Given the description of an element on the screen output the (x, y) to click on. 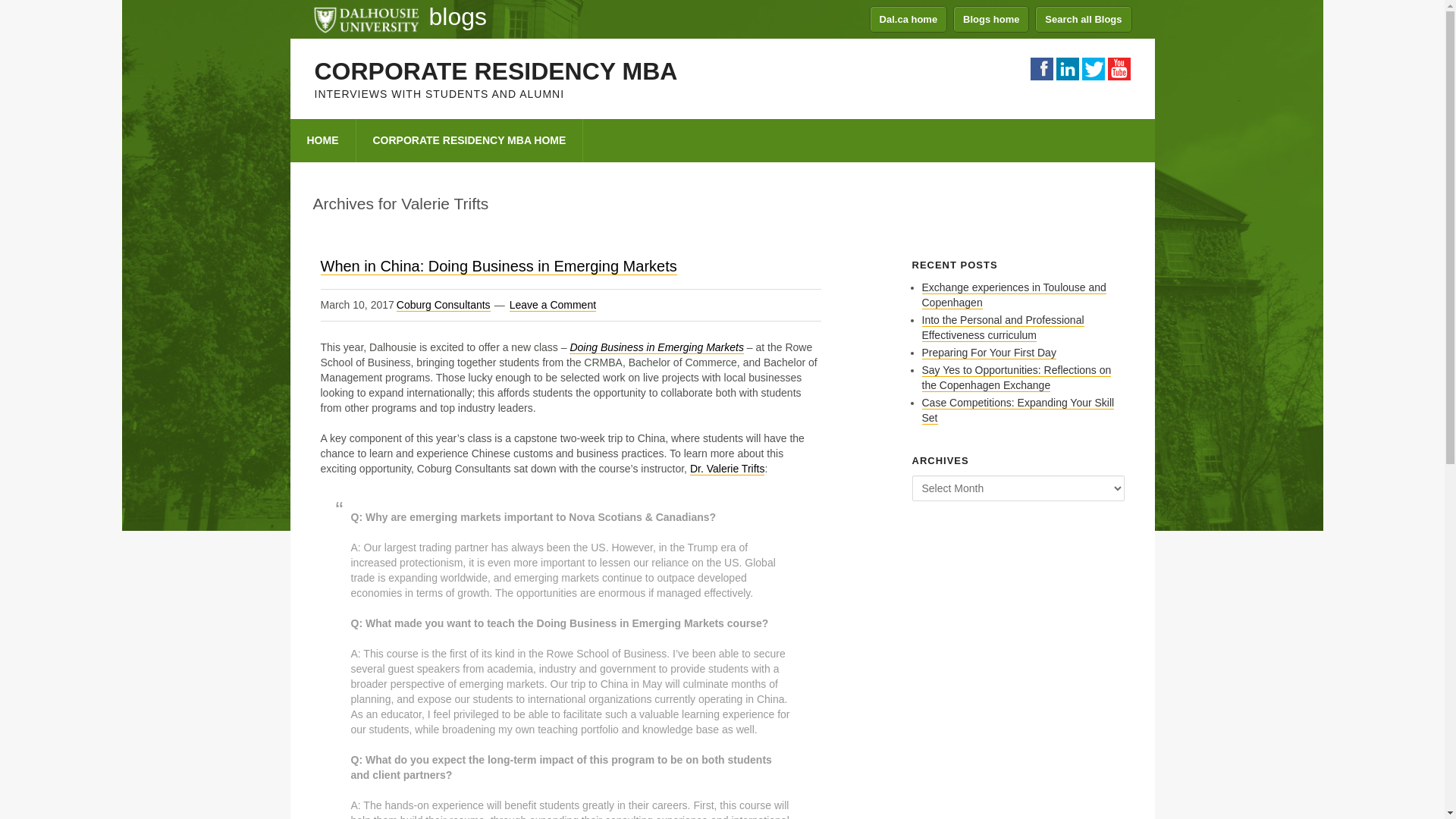
When in China: Doing Business in Emerging Markets (498, 266)
Dalhousie University (365, 18)
Search all Blogs (1083, 18)
Leave a Comment (552, 305)
F (1040, 68)
HOME (322, 140)
Into the Personal and Professional Effectiveness curriculum (1002, 327)
I (1066, 68)
CORPORATE RESIDENCY MBA HOME (469, 140)
blogs (458, 16)
Blogs home (991, 18)
Exchange experiences in Toulouse and Copenhagen (1013, 295)
X (1117, 68)
L (1092, 68)
Preparing For Your First Day (989, 352)
